Given the description of an element on the screen output the (x, y) to click on. 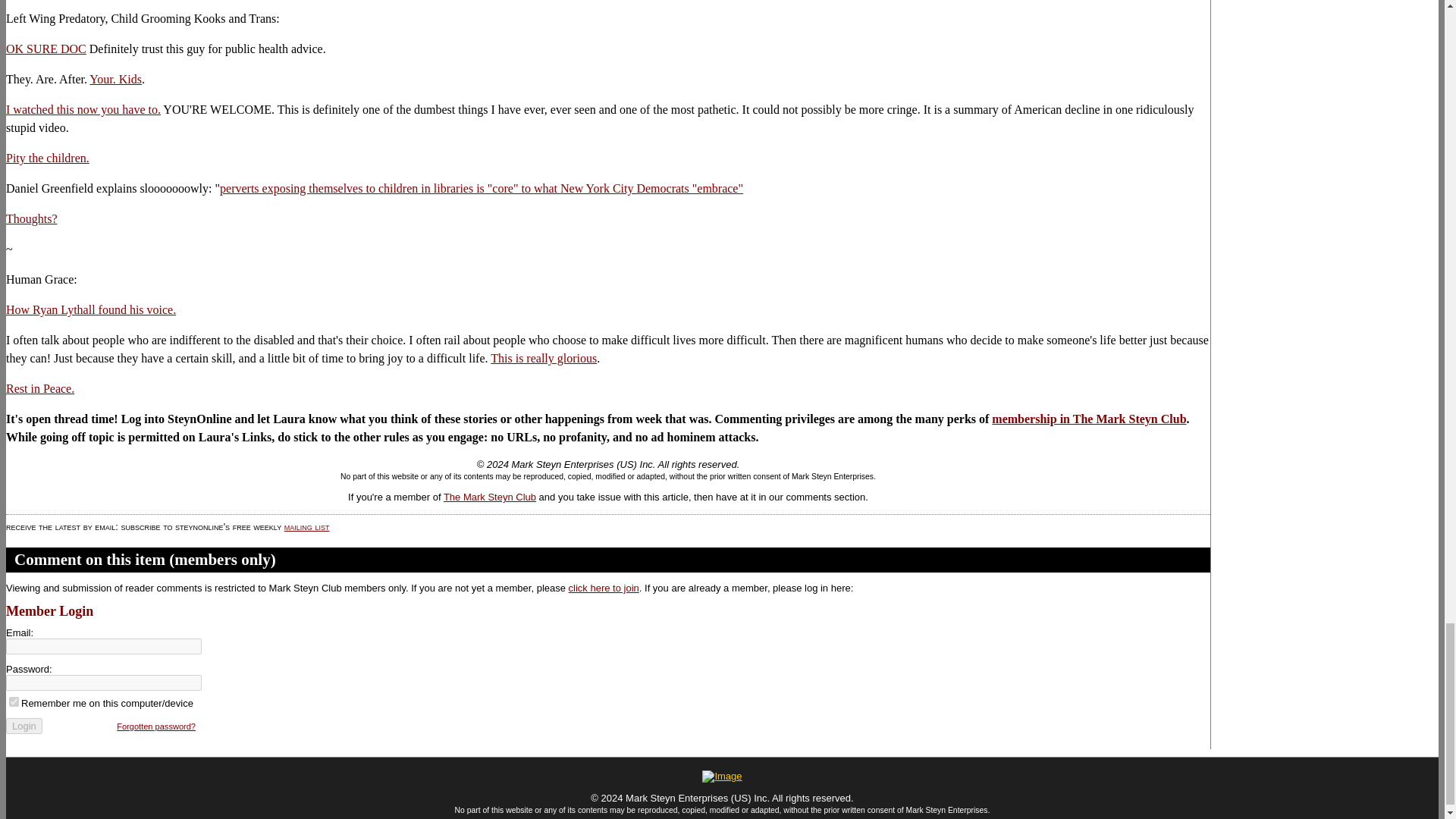
persist (13, 701)
Login (23, 725)
